Given the description of an element on the screen output the (x, y) to click on. 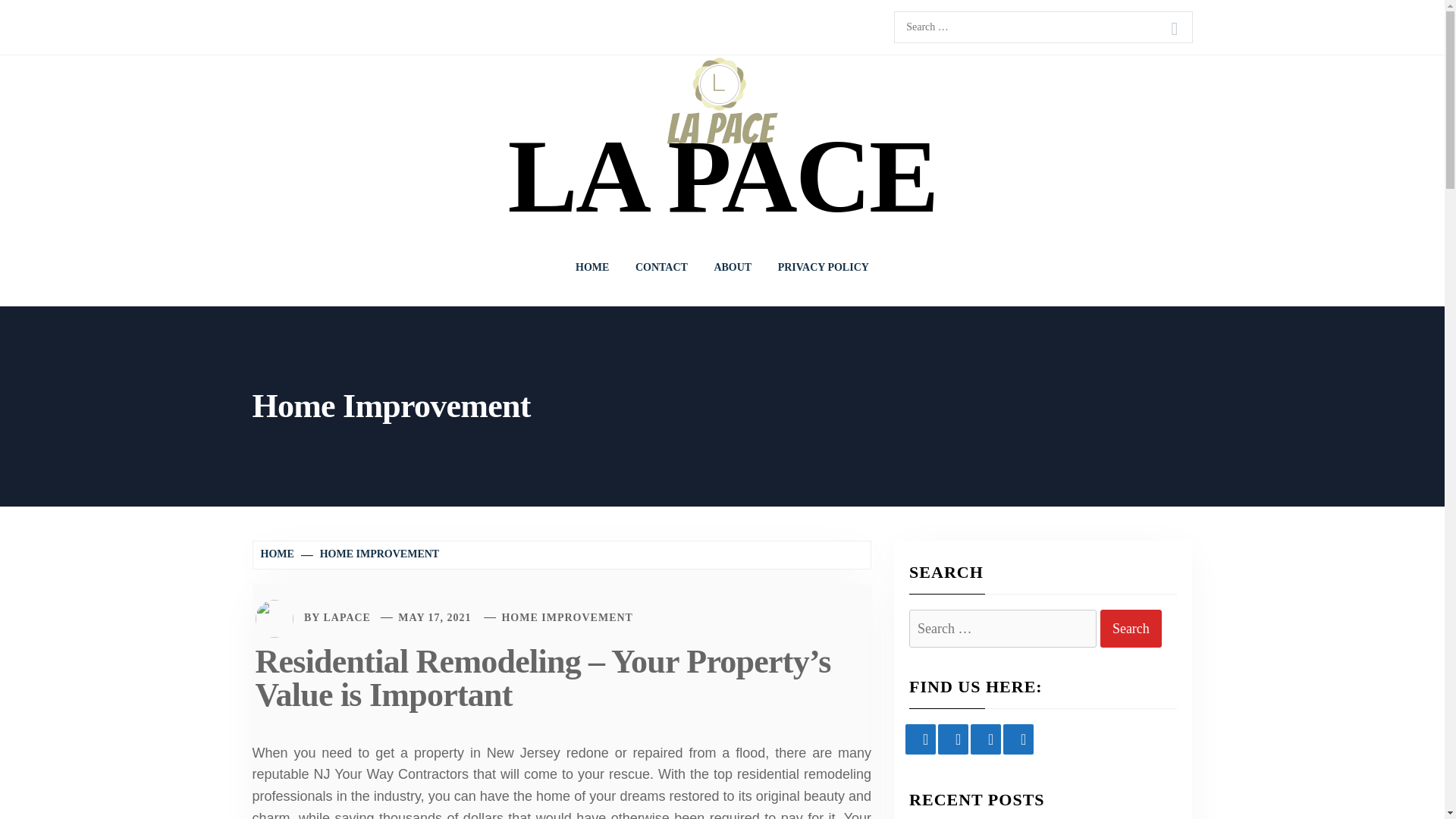
PRIVACY POLICY (823, 267)
HOME (592, 267)
ABOUT (731, 267)
Instagram (986, 738)
LA PACE (721, 175)
HOME IMPROVEMENT (371, 553)
Facebook (920, 738)
Search (1130, 628)
CONTACT (661, 267)
HOME (279, 553)
